Given the description of an element on the screen output the (x, y) to click on. 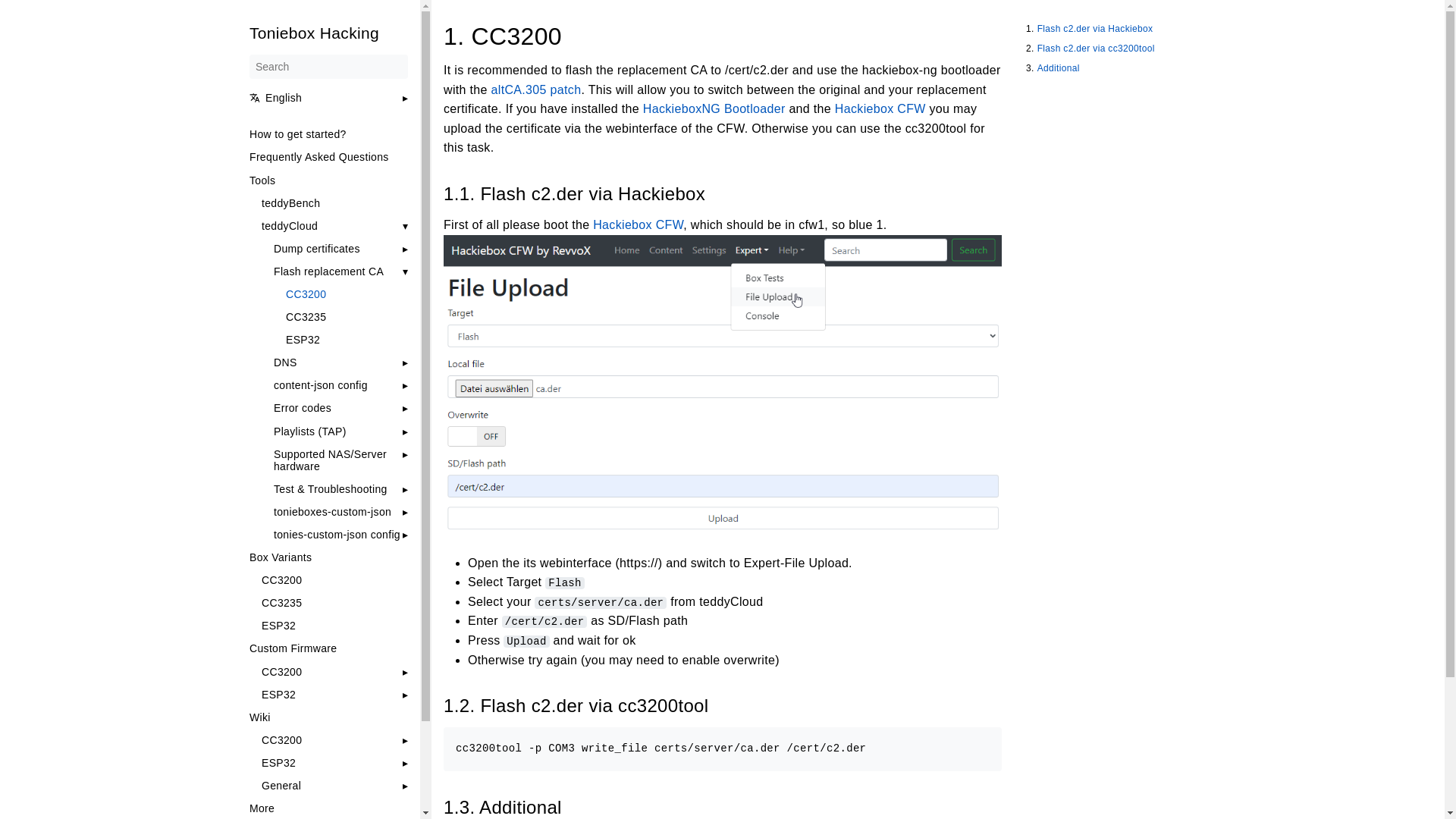
Custom Firmware (327, 648)
Tools (327, 180)
Error codes (301, 408)
CC3200 (346, 294)
ESP32 (333, 625)
teddyCloud (288, 225)
Flash replacement CA (327, 271)
ESP32 (346, 339)
Box Variants (327, 557)
Toniebox Hacking (327, 33)
